Given the description of an element on the screen output the (x, y) to click on. 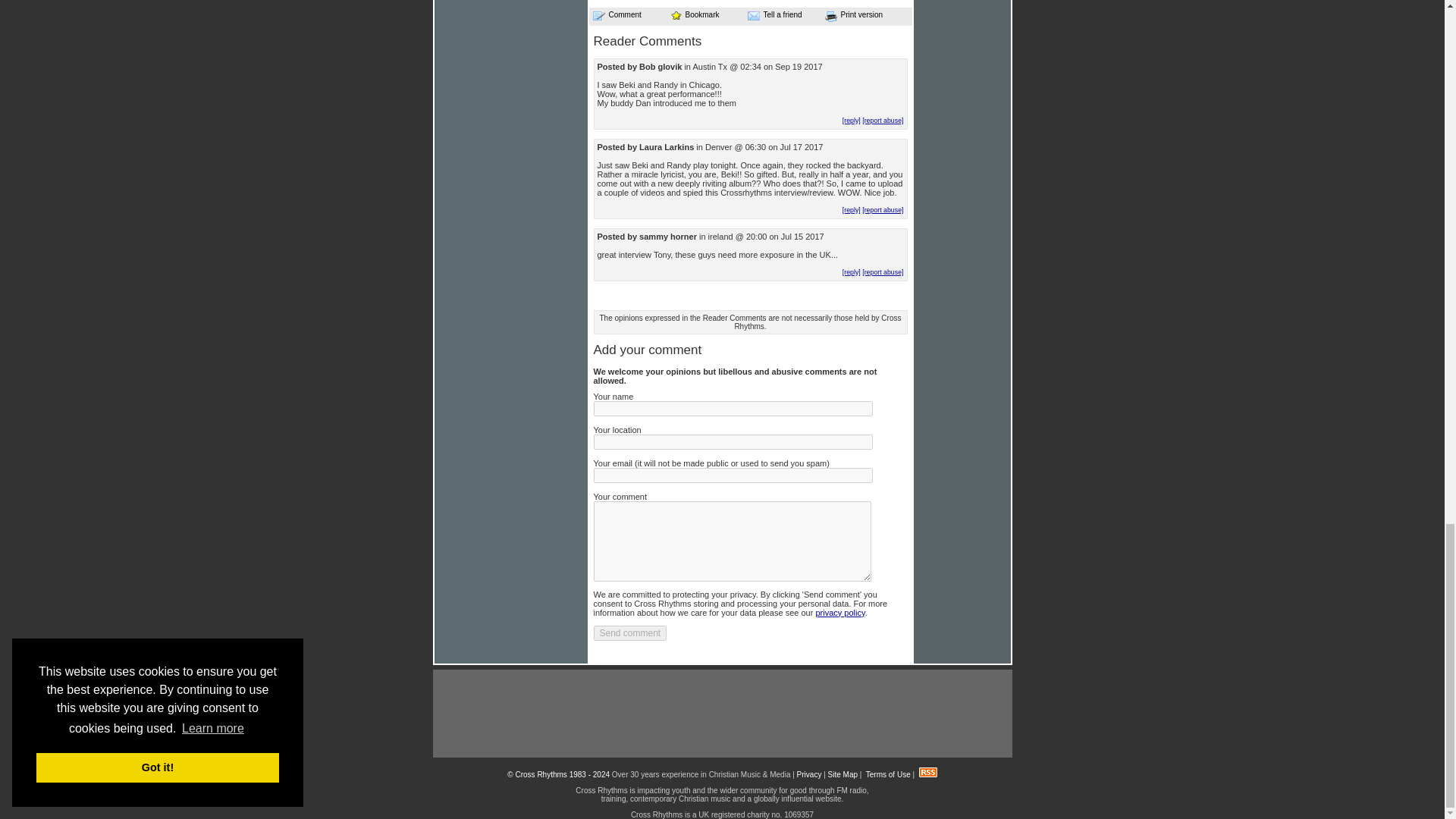
Send comment (629, 632)
3rd party ad content (721, 713)
